Given the description of an element on the screen output the (x, y) to click on. 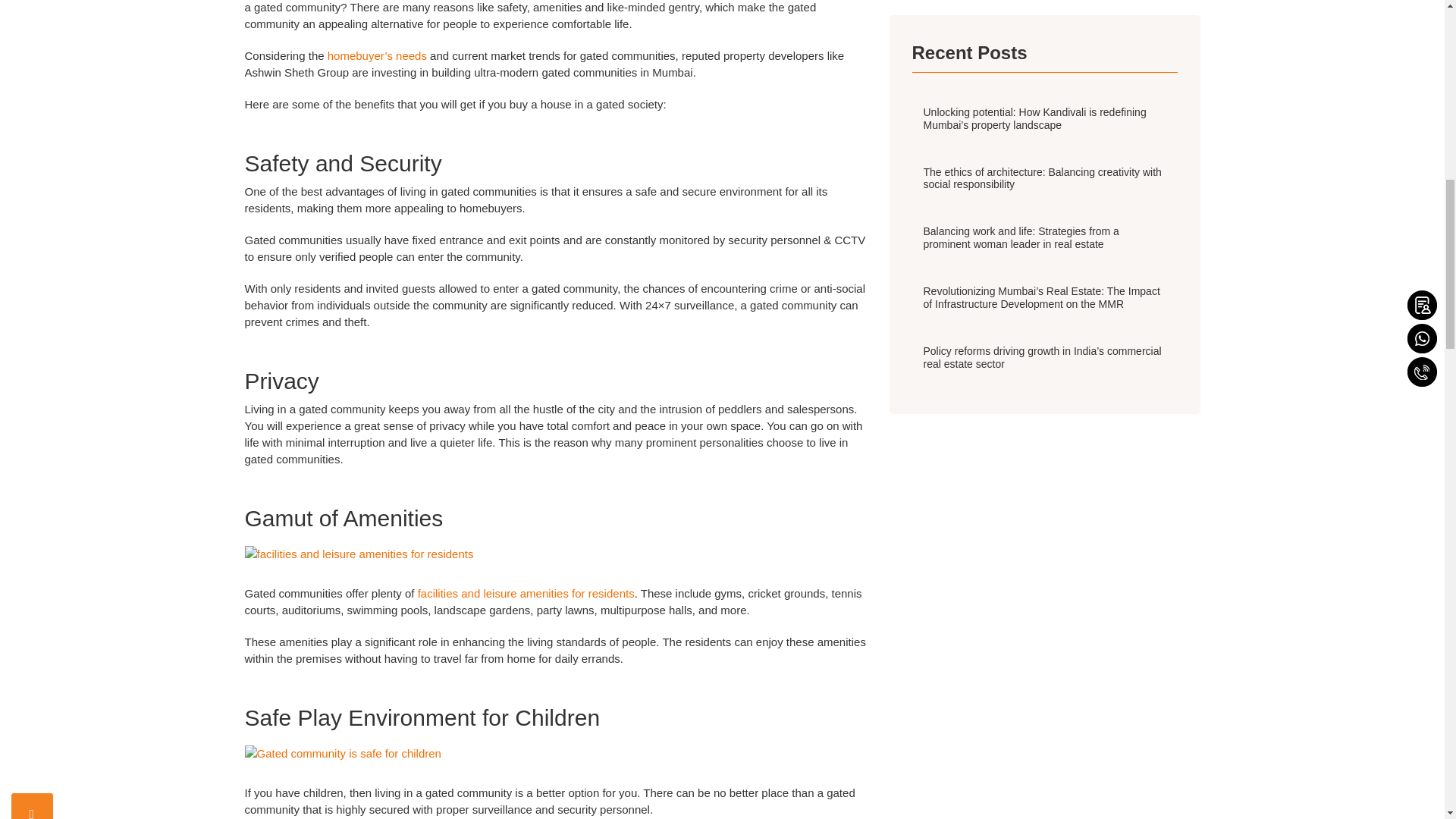
facilities and leisure amenities for residents (524, 593)
